Given the description of an element on the screen output the (x, y) to click on. 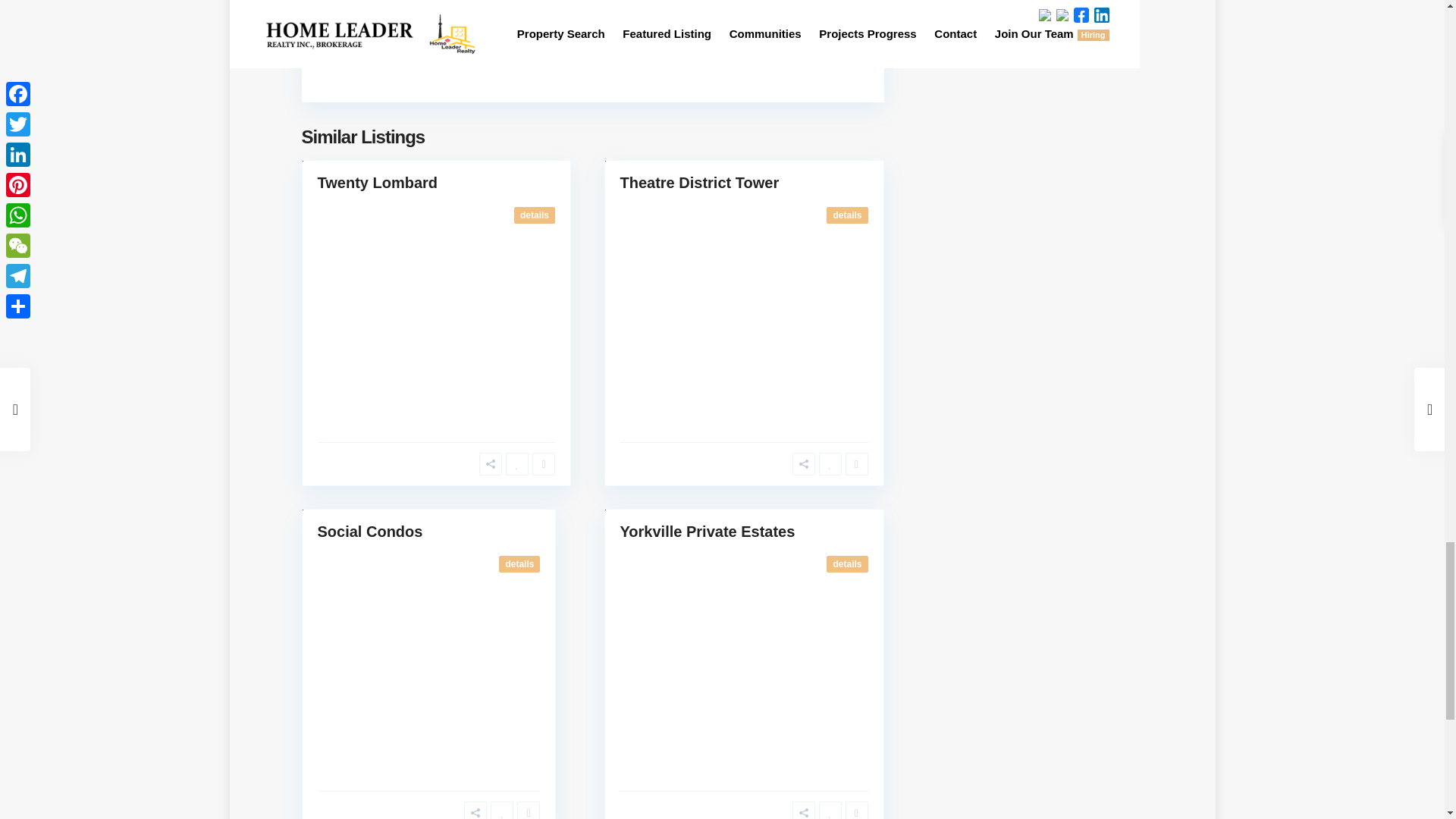
Send Email (388, 49)
